Given the description of an element on the screen output the (x, y) to click on. 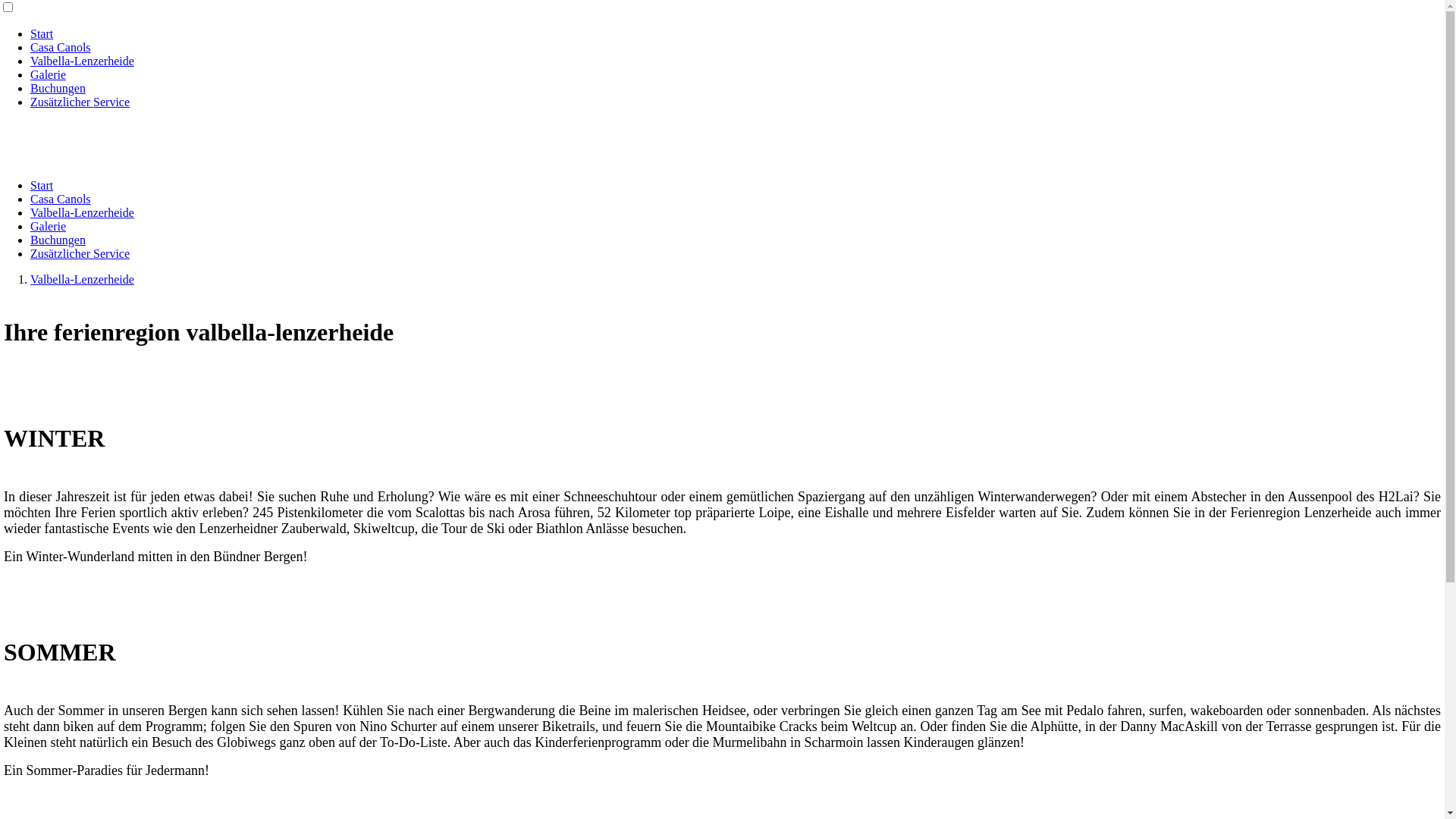
Casa Canols Element type: text (60, 198)
Galerie Element type: text (47, 225)
Valbella-Lenzerheide Element type: text (82, 279)
Start Element type: text (41, 184)
Valbella-Lenzerheide Element type: text (82, 212)
Valbella-Lenzerheide Element type: text (82, 60)
Galerie Element type: text (47, 74)
Start Element type: text (41, 33)
Casa Canols Element type: text (60, 46)
Buchungen Element type: text (57, 87)
Buchungen Element type: text (57, 239)
